Given the description of an element on the screen output the (x, y) to click on. 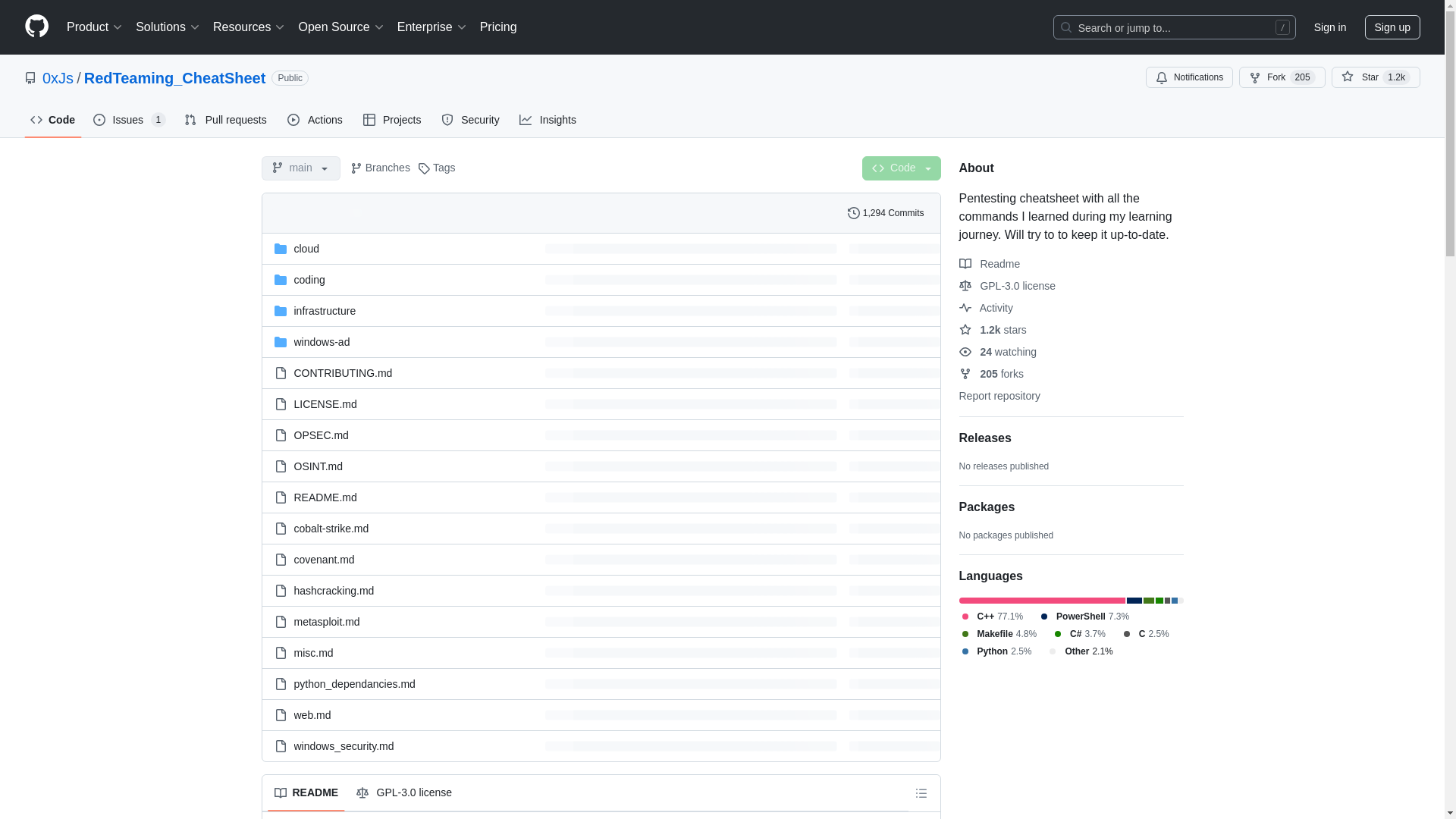
CONTRIBUTING.md (343, 372)
Resources (249, 27)
infrastructure (325, 310)
205 (1303, 77)
1,197 (1395, 77)
Product (95, 27)
cloud (306, 248)
Solutions (167, 27)
Open Source (341, 27)
